Given the description of an element on the screen output the (x, y) to click on. 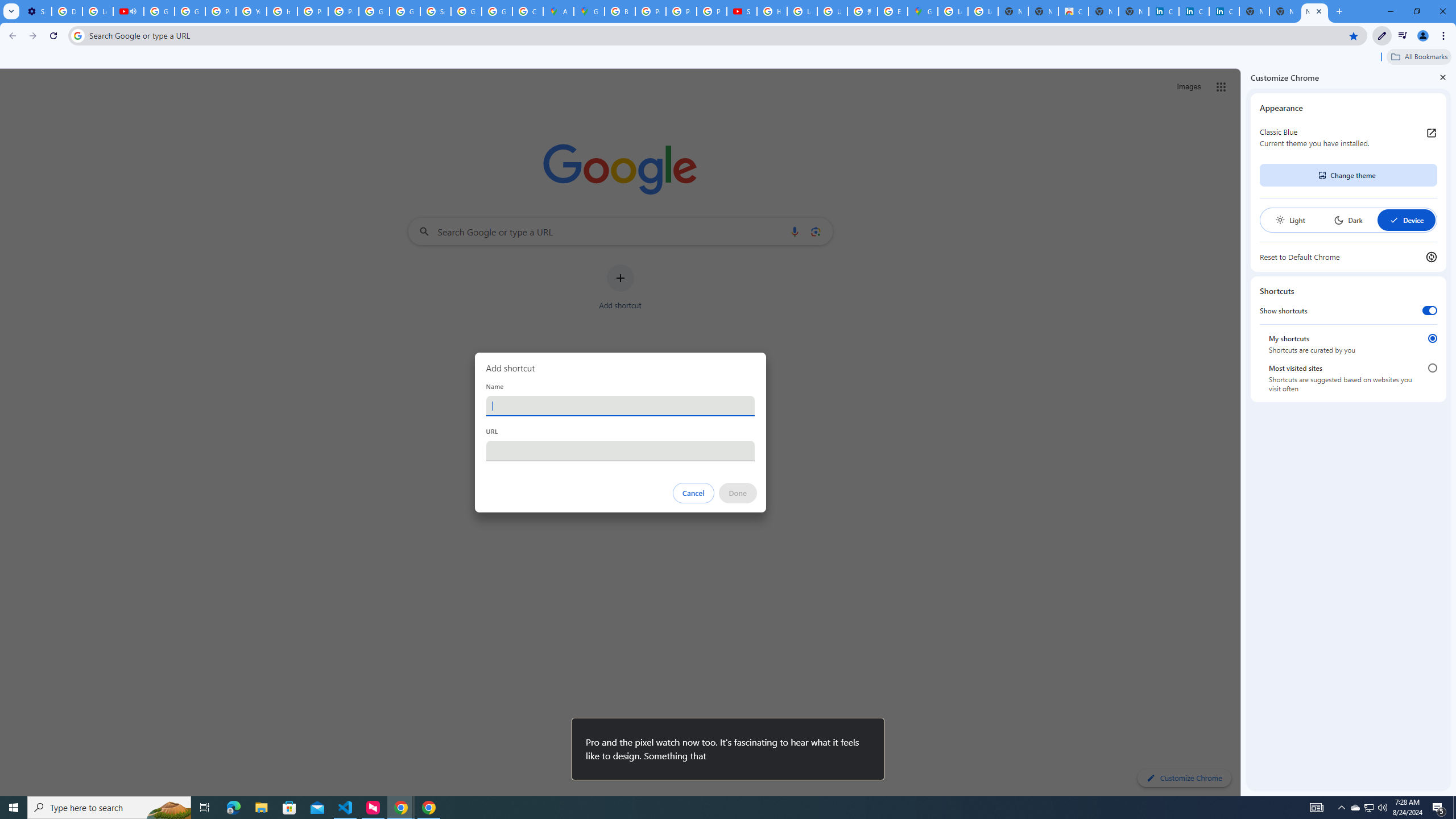
My shortcuts (1432, 338)
Google Maps (589, 11)
Sign in - Google Accounts (434, 11)
Dark (1348, 219)
Cookie Policy | LinkedIn (1163, 11)
